Given the description of an element on the screen output the (x, y) to click on. 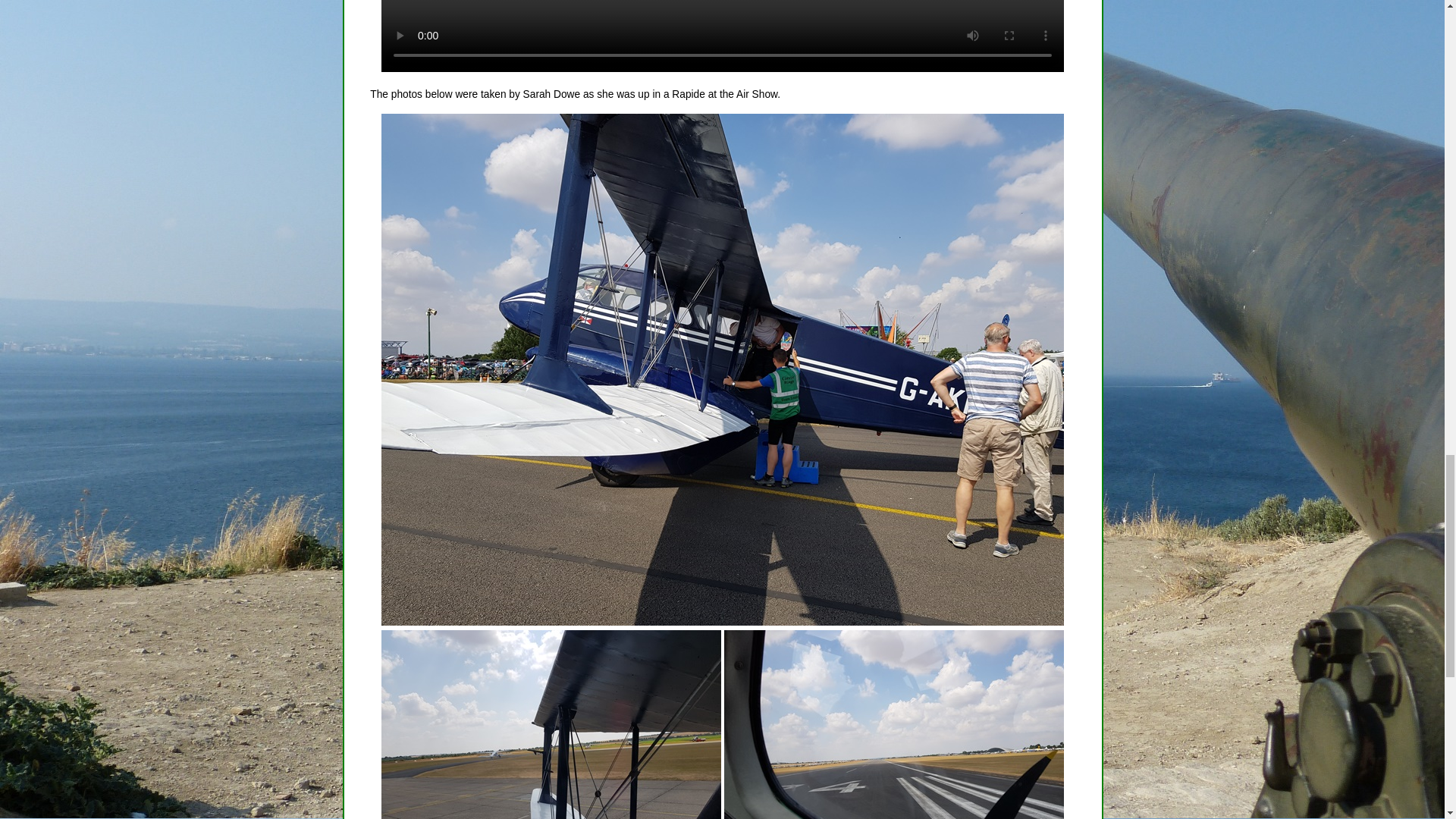
RAAF in the UK Tour 2018 (550, 724)
RAAF in the UK Tour 2018 (893, 724)
